Given the description of an element on the screen output the (x, y) to click on. 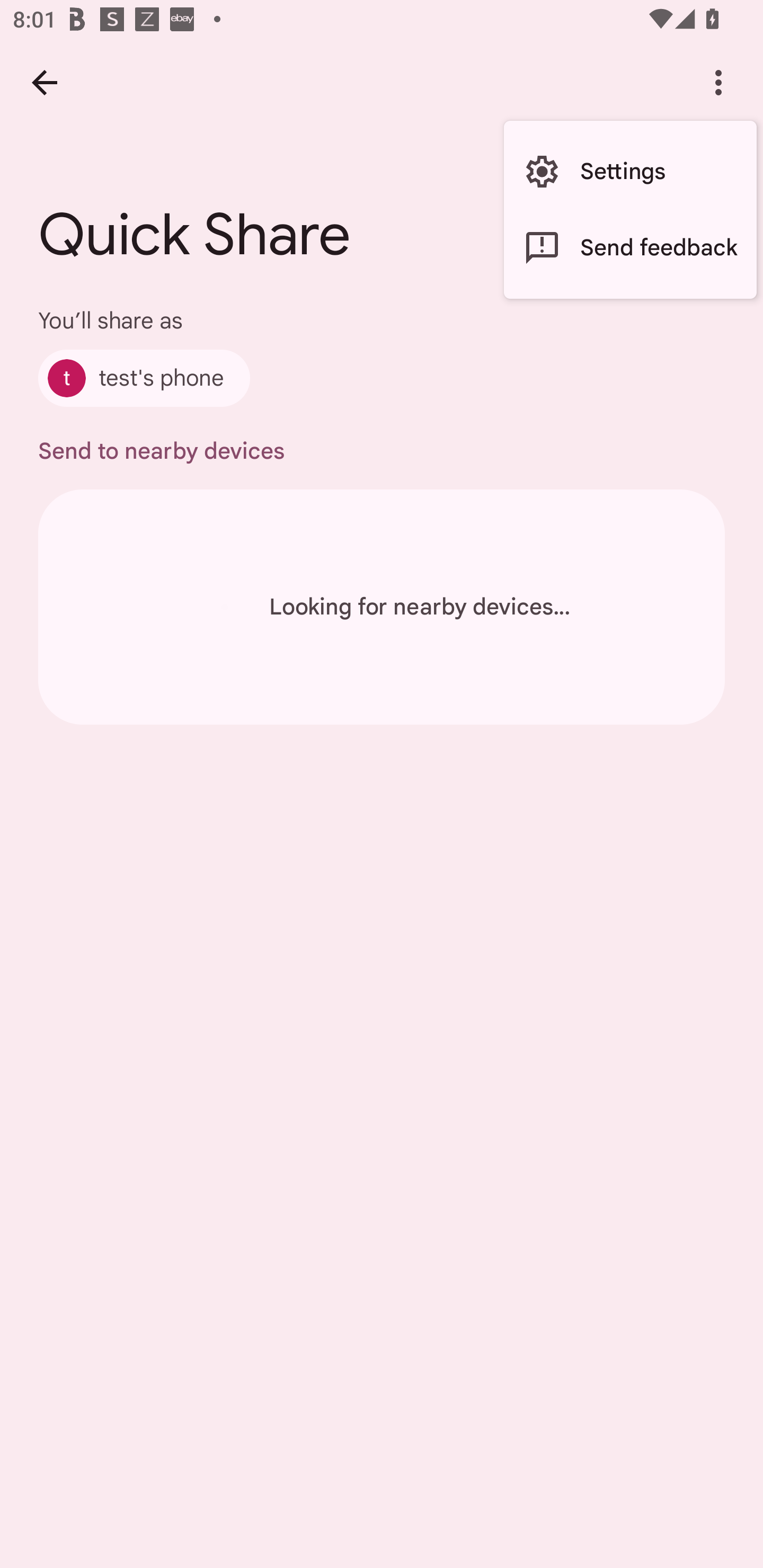
Settings (629, 171)
Send feedback (629, 247)
